Given the description of an element on the screen output the (x, y) to click on. 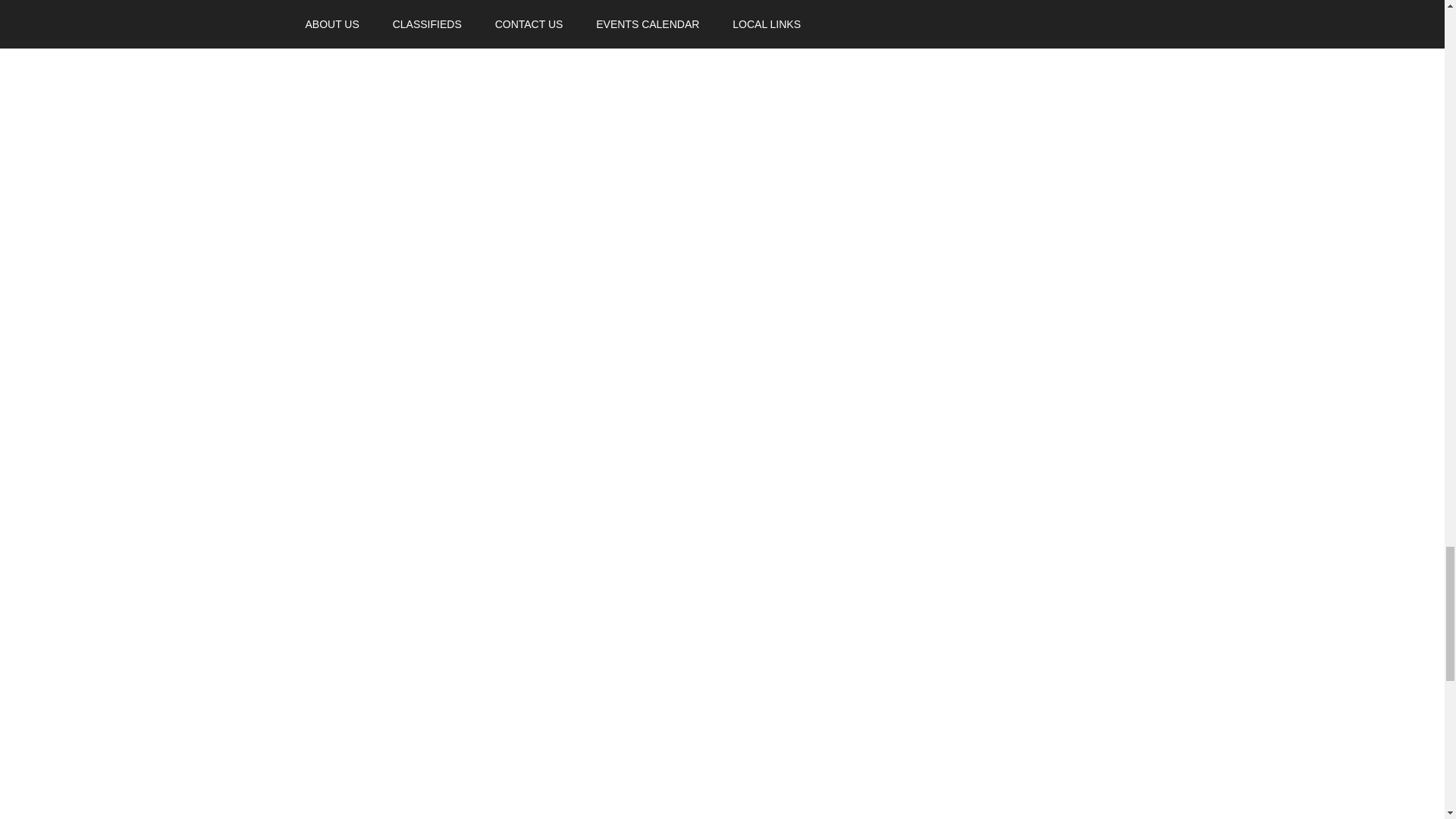
3rd party ad content (994, 11)
